Given the description of an element on the screen output the (x, y) to click on. 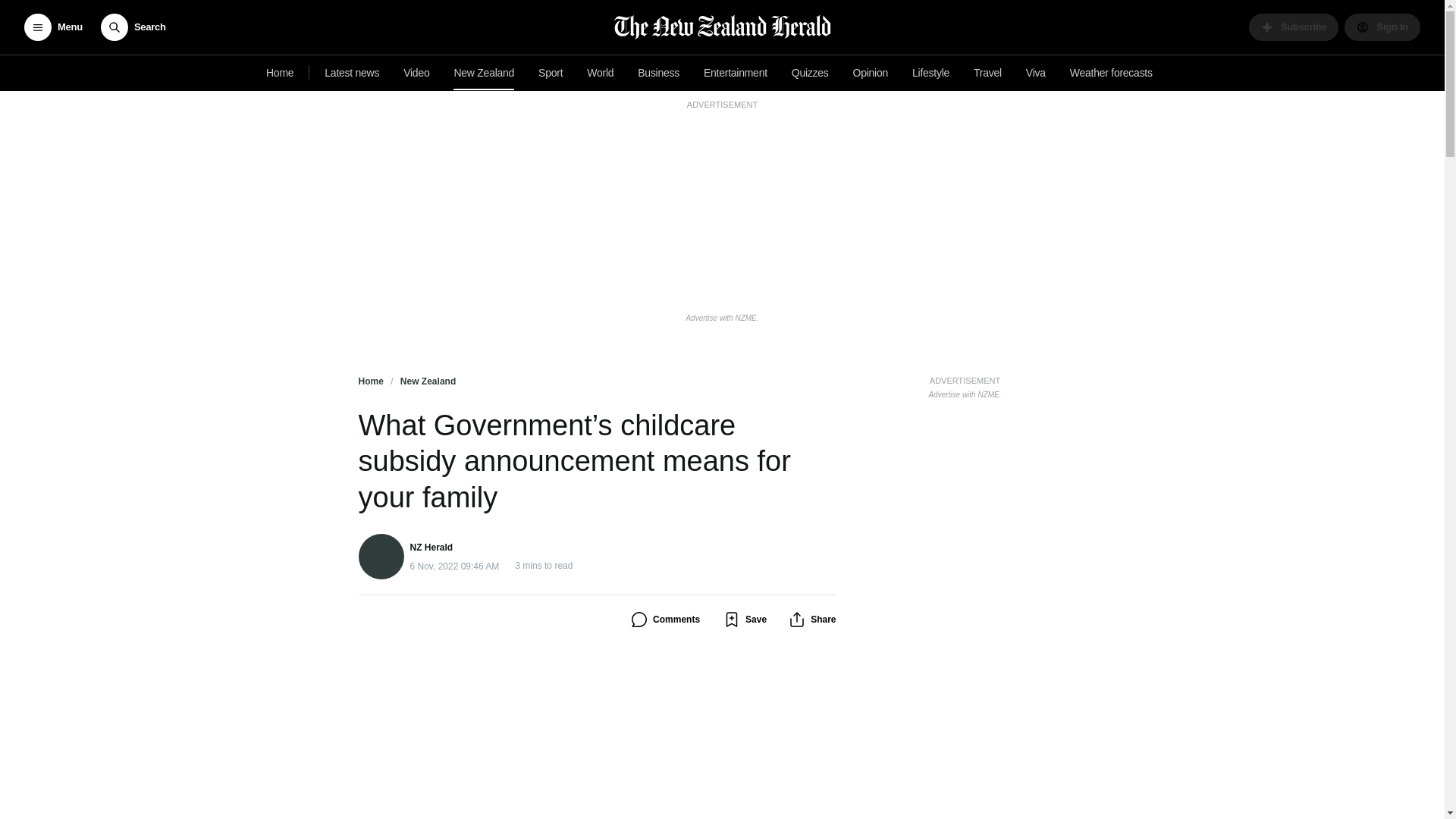
Opinion (870, 72)
Video (964, 384)
Travel (416, 72)
Lifestyle (986, 72)
Viva (930, 72)
Home (1035, 72)
Subscribe (279, 72)
Entertainment (1294, 26)
Sport (735, 72)
